Given the description of an element on the screen output the (x, y) to click on. 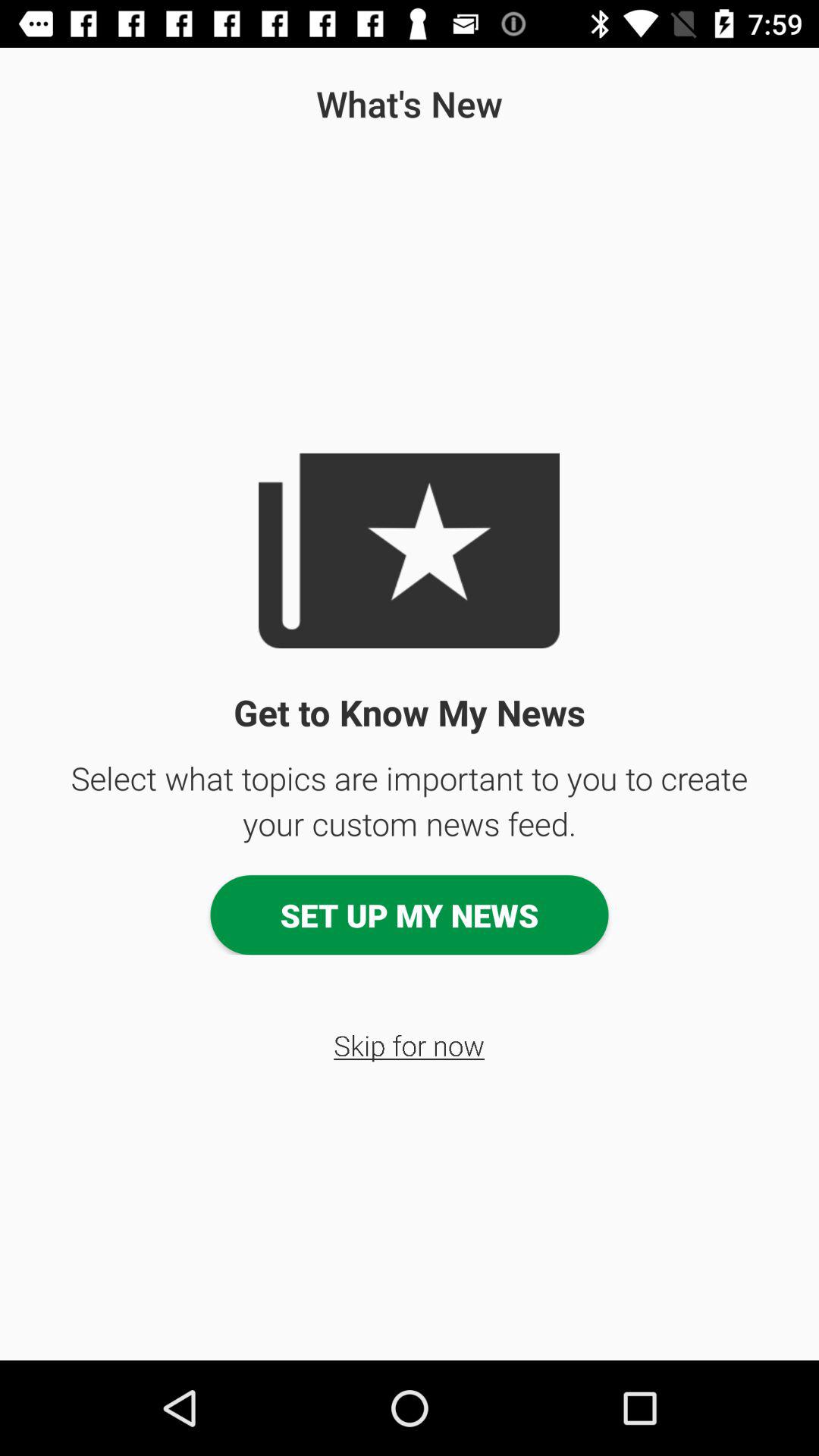
swipe to the set up my item (409, 914)
